Given the description of an element on the screen output the (x, y) to click on. 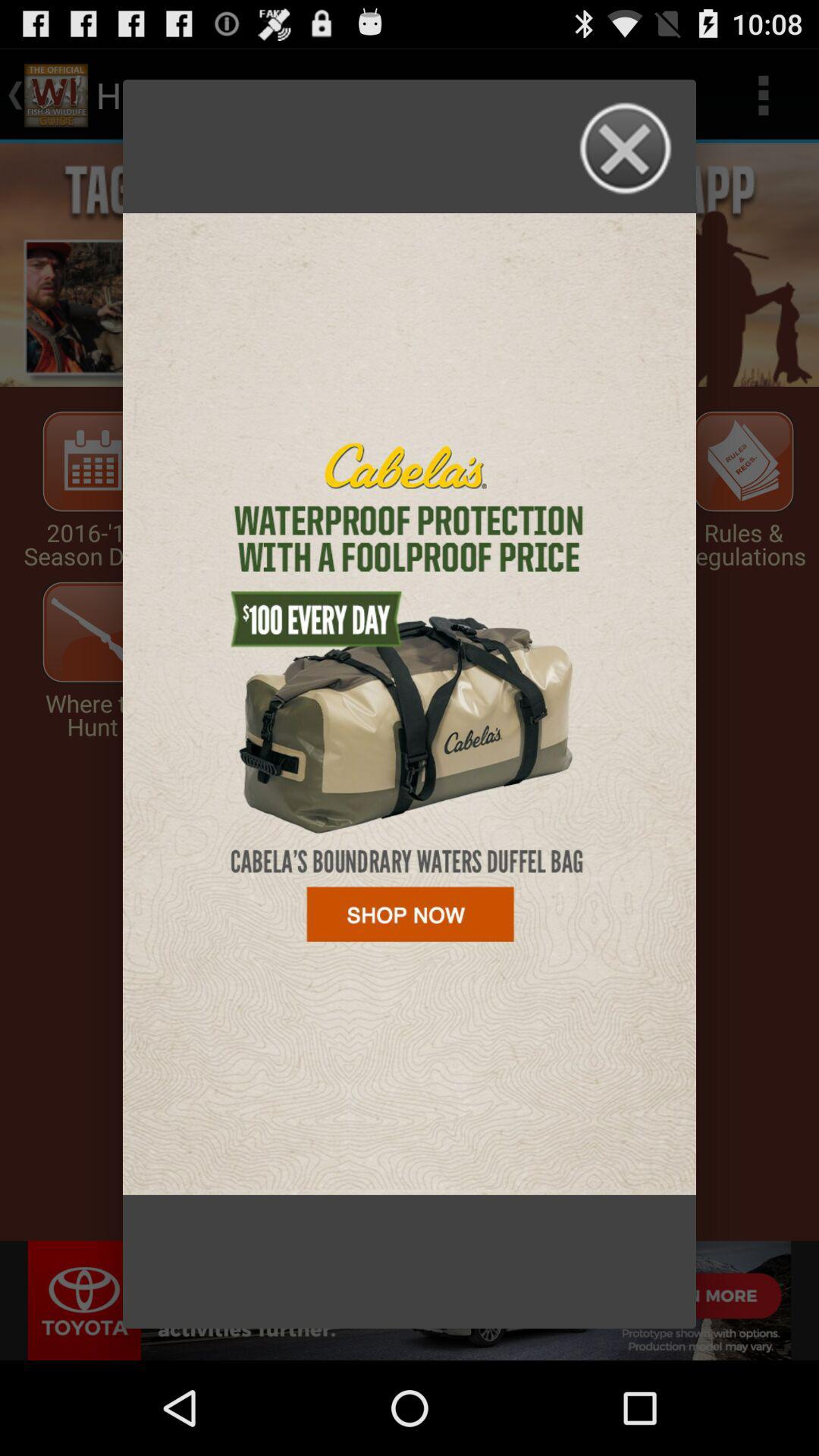
close window (626, 149)
